Given the description of an element on the screen output the (x, y) to click on. 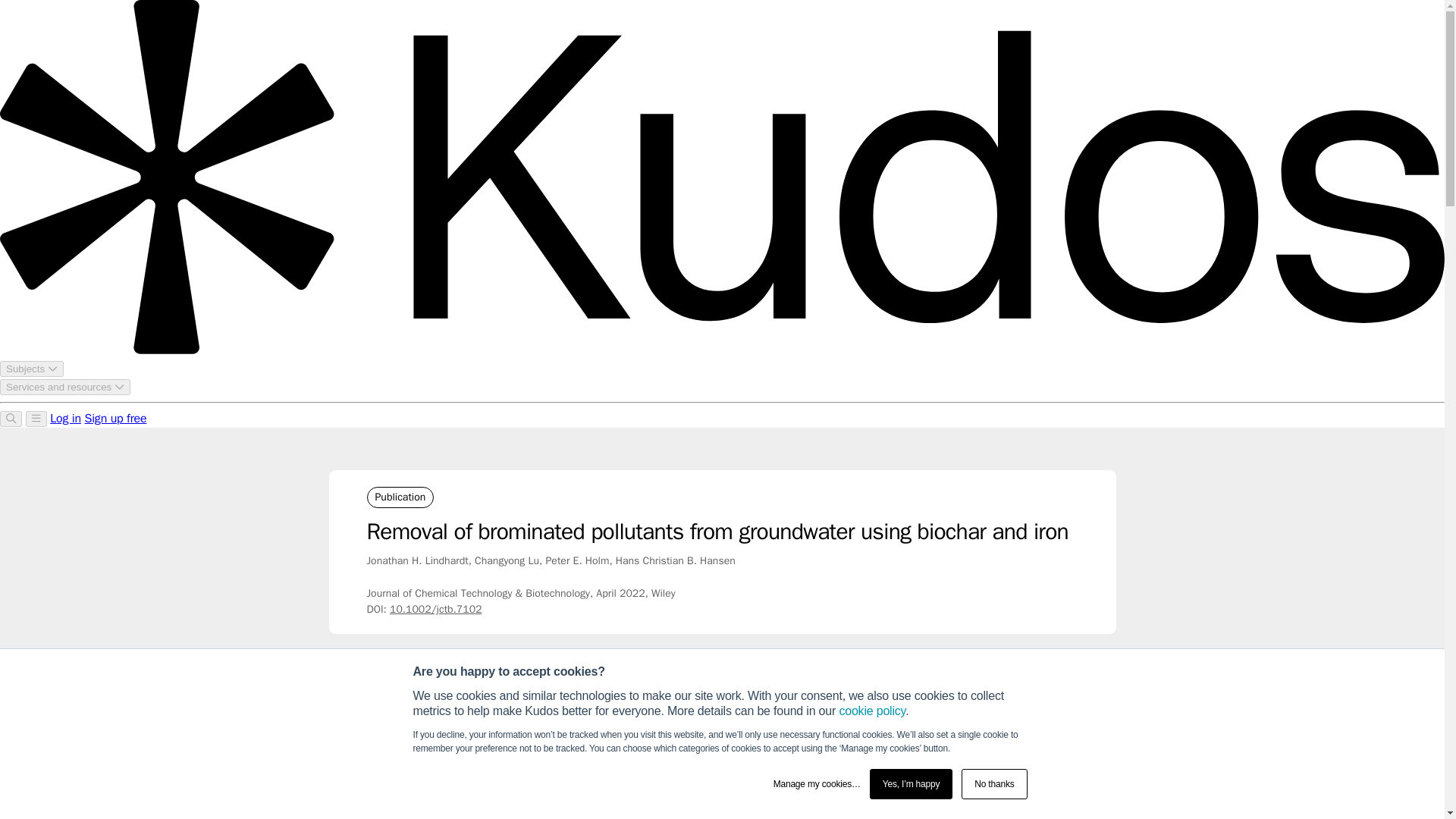
No thanks (993, 784)
Wiley (485, 693)
Home (379, 693)
Read Article (997, 754)
Showcases (433, 693)
cookie policy (871, 710)
